Given the description of an element on the screen output the (x, y) to click on. 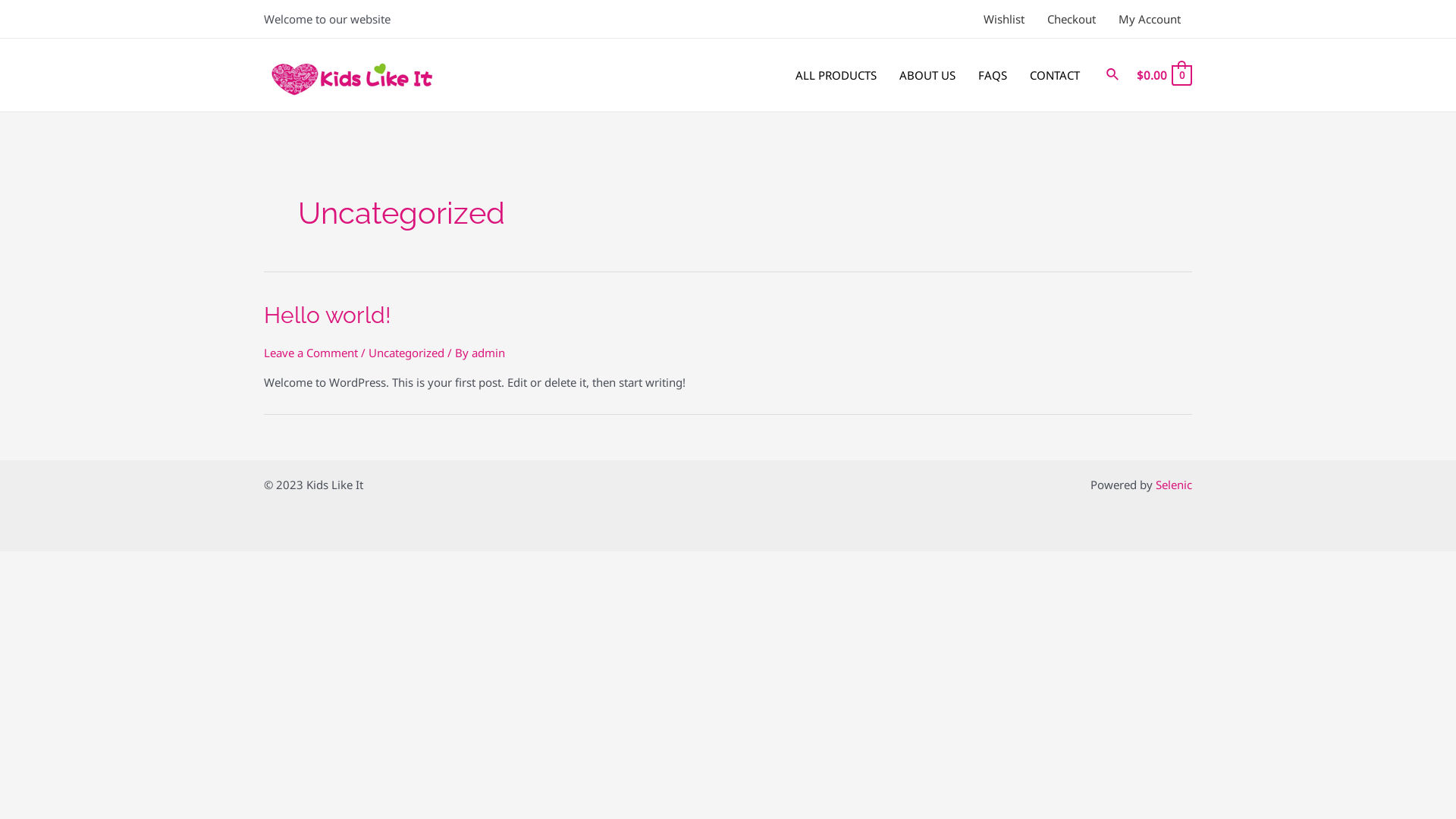
Leave a Comment Element type: text (310, 352)
$0.00
0 Element type: text (1163, 75)
CONTACT Element type: text (1054, 74)
Uncategorized Element type: text (406, 352)
ALL PRODUCTS Element type: text (836, 74)
Search Element type: text (1113, 74)
Selenic Element type: text (1173, 484)
Wishlist Element type: text (1003, 18)
Hello world! Element type: text (327, 314)
ABOUT US Element type: text (927, 74)
My Account Element type: text (1149, 18)
admin Element type: text (488, 352)
FAQS Element type: text (992, 74)
Checkout Element type: text (1071, 18)
